Given the description of an element on the screen output the (x, y) to click on. 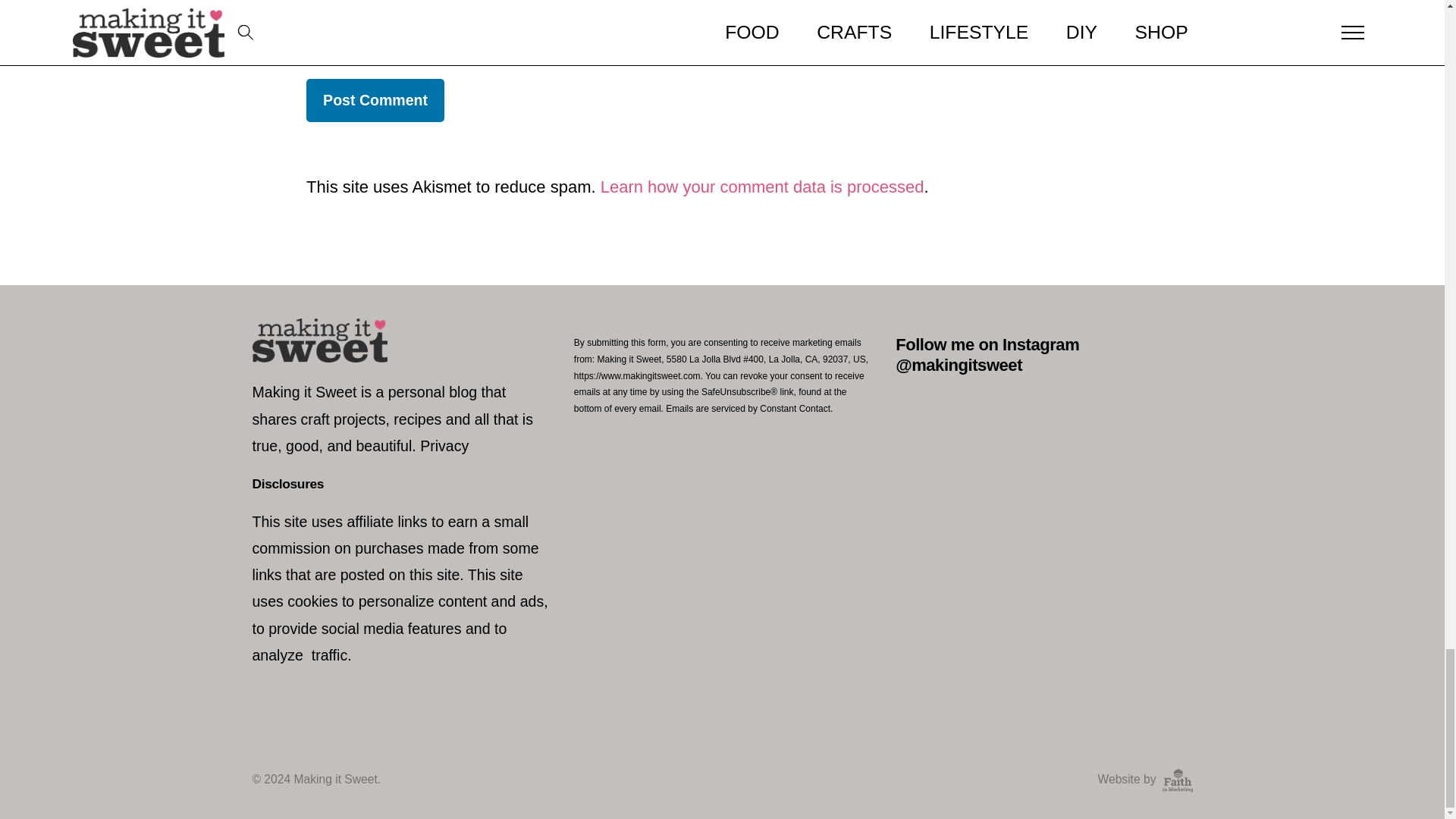
subscribe (310, 47)
subscribe (310, 2)
Post Comment (374, 100)
Learn how your comment data is processed (761, 186)
Privacy (444, 445)
Post Comment (374, 100)
